Given the description of an element on the screen output the (x, y) to click on. 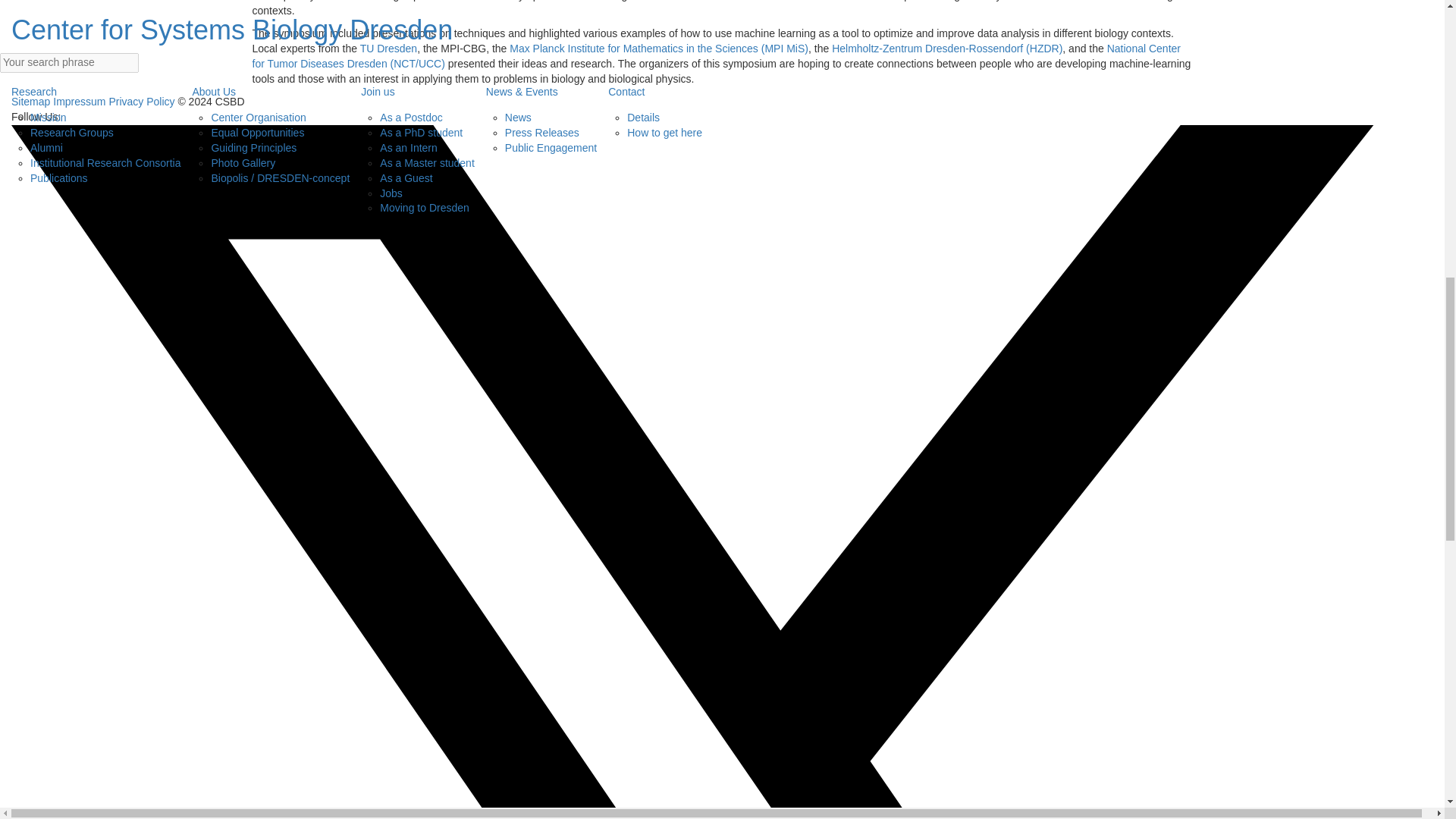
Privacy Policy (140, 101)
Sitemap (30, 101)
Impressum (78, 101)
TU Dresden (387, 48)
